Given the description of an element on the screen output the (x, y) to click on. 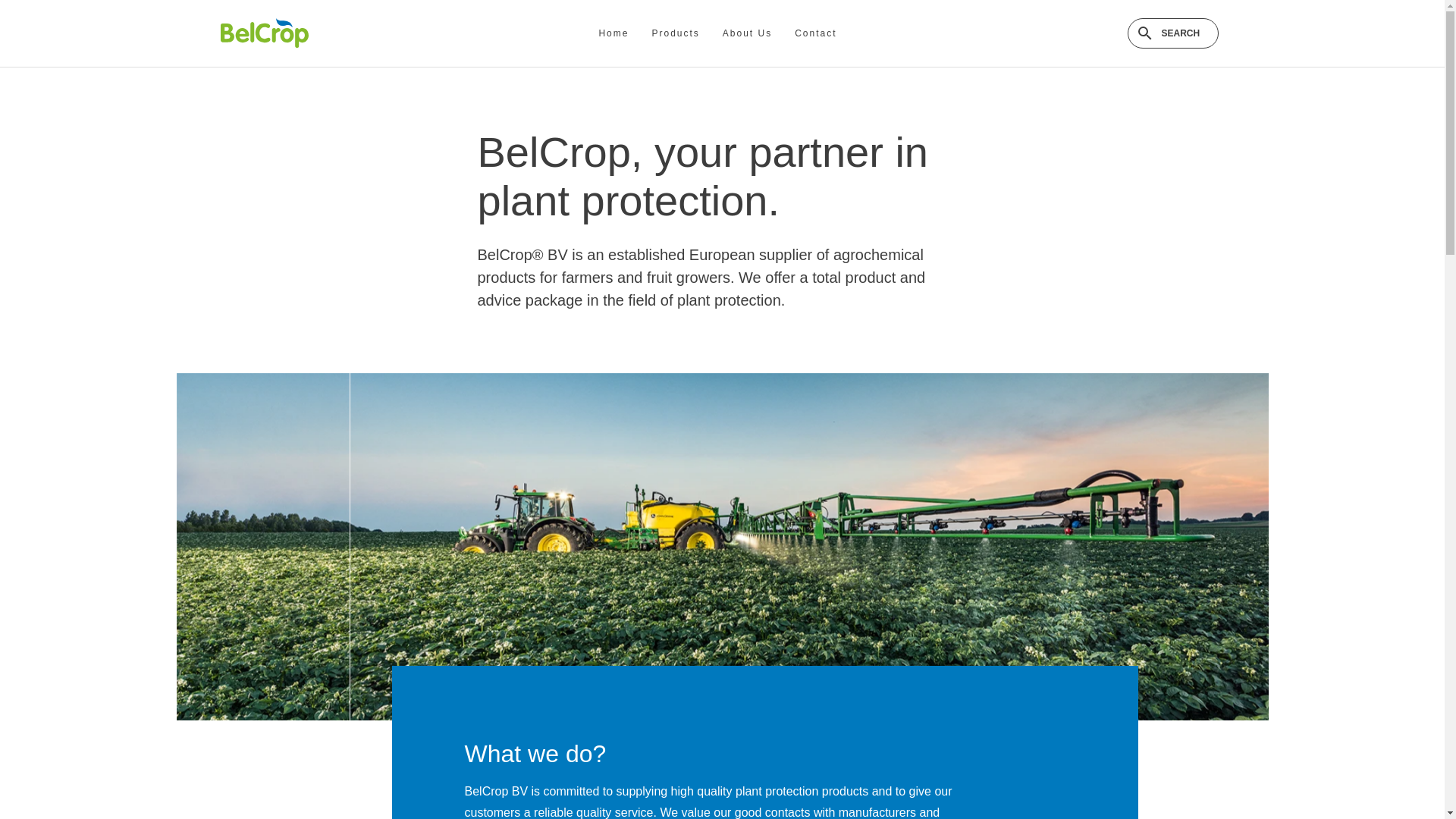
Products Element type: text (675, 33)
Contact Element type: text (815, 33)
Home Element type: text (613, 33)
About Us Element type: text (746, 33)
